Given the description of an element on the screen output the (x, y) to click on. 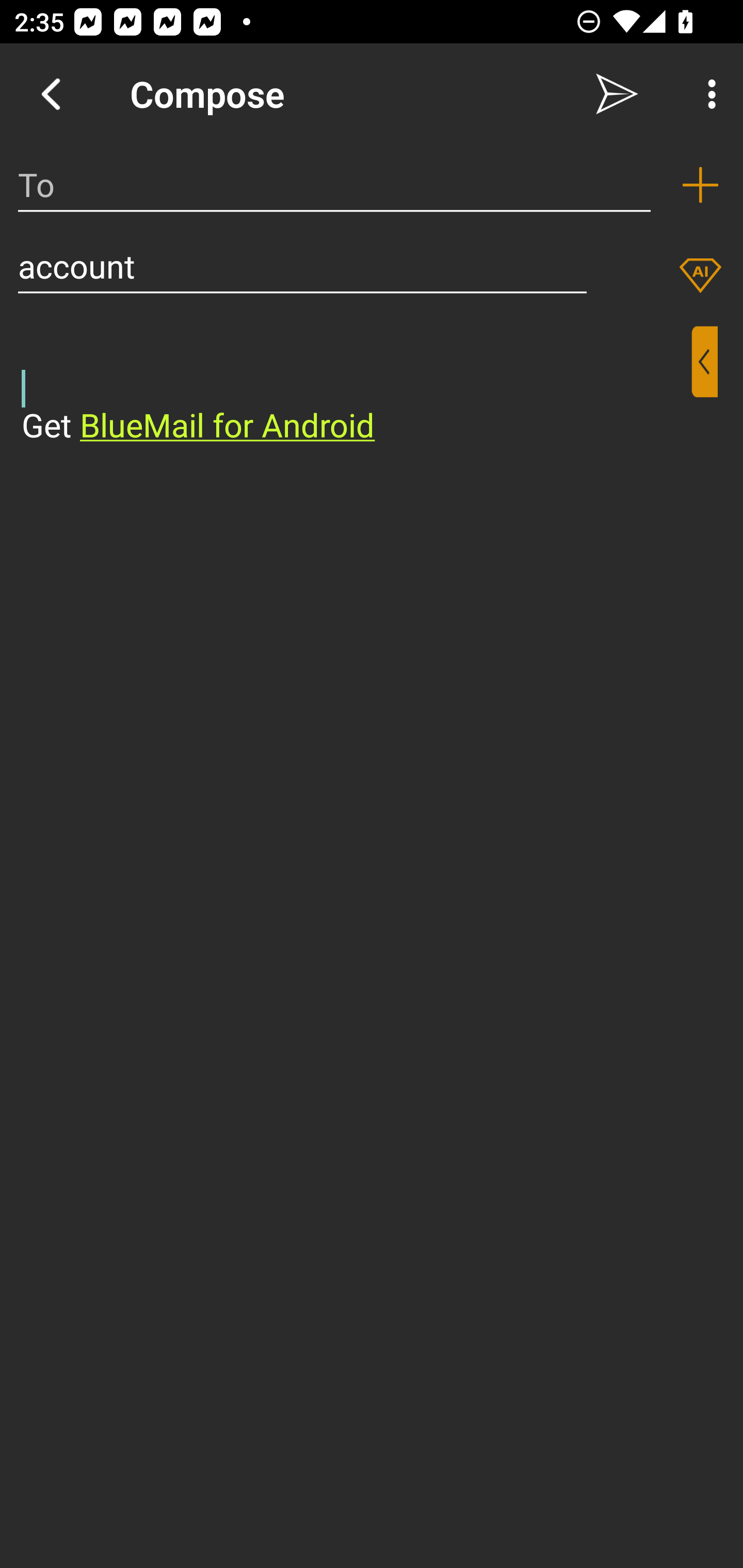
Navigate up (50, 93)
Send (616, 93)
More Options (706, 93)
To (334, 184)
Add recipient (To) (699, 184)
account (302, 266)


⁣Get BlueMail for Android ​ (355, 386)
